Given the description of an element on the screen output the (x, y) to click on. 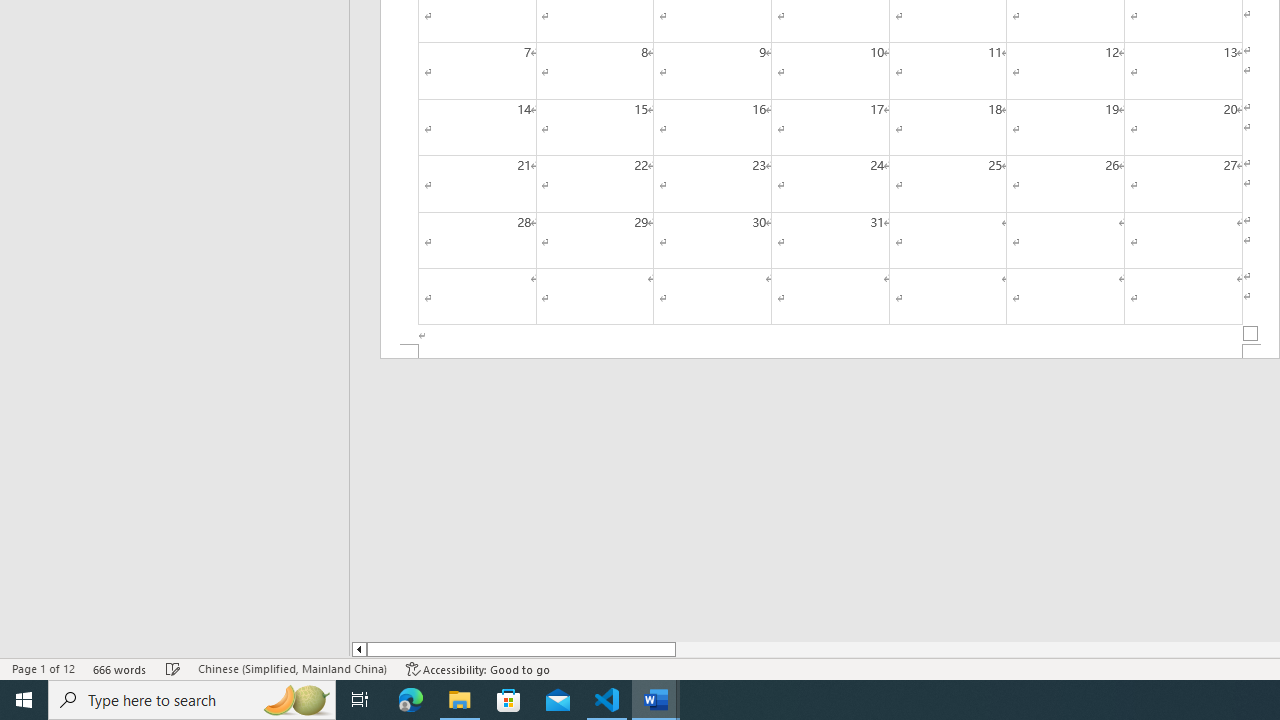
Column left (358, 649)
Word Count 666 words (119, 668)
Page Number Page 1 of 12 (43, 668)
Footer -Section 1- (830, 351)
